Given the description of an element on the screen output the (x, y) to click on. 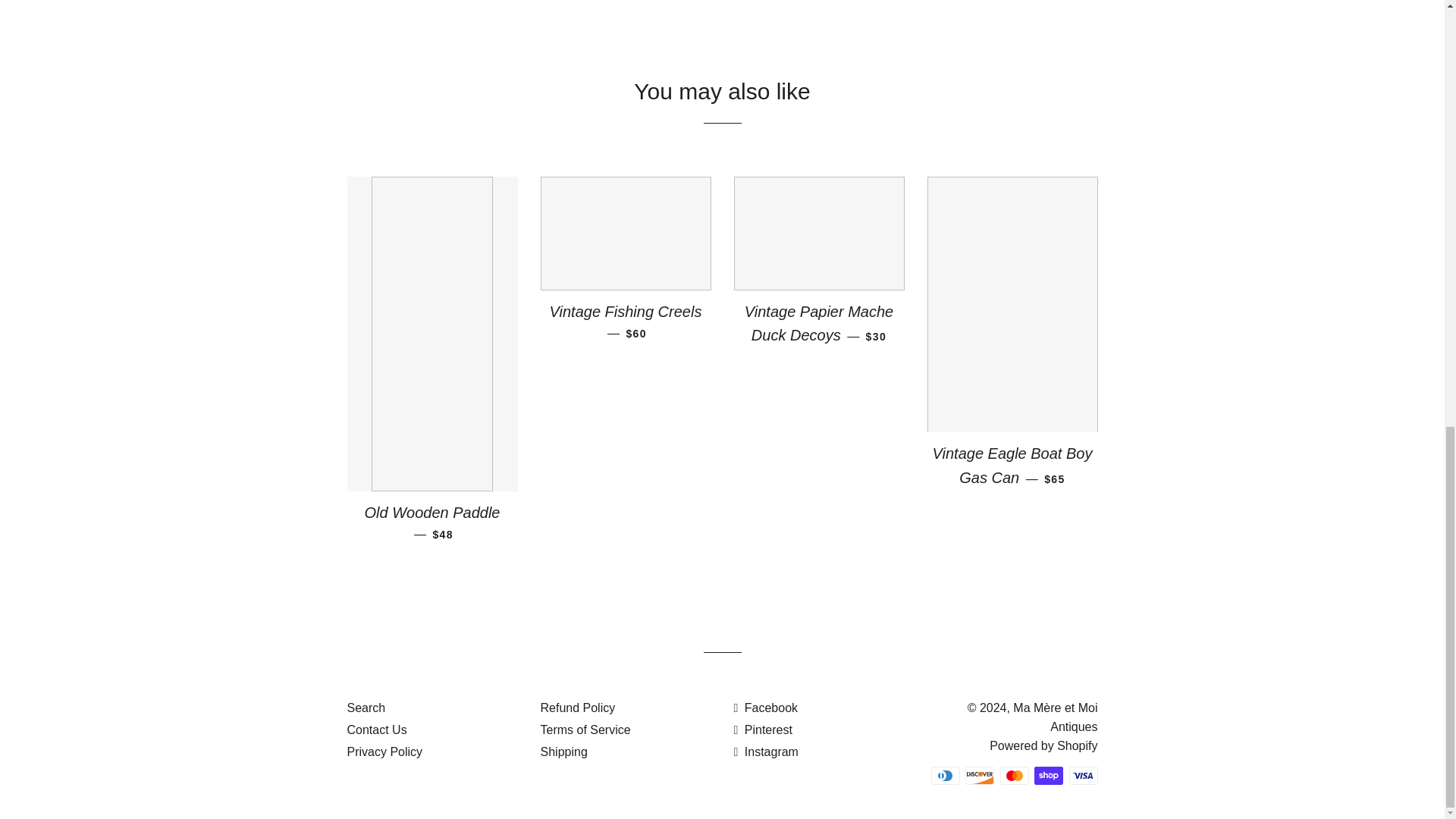
Shop Pay (1047, 775)
Visa (1082, 775)
Diners Club (945, 775)
Mastercard (1012, 775)
Discover (979, 775)
